Given the description of an element on the screen output the (x, y) to click on. 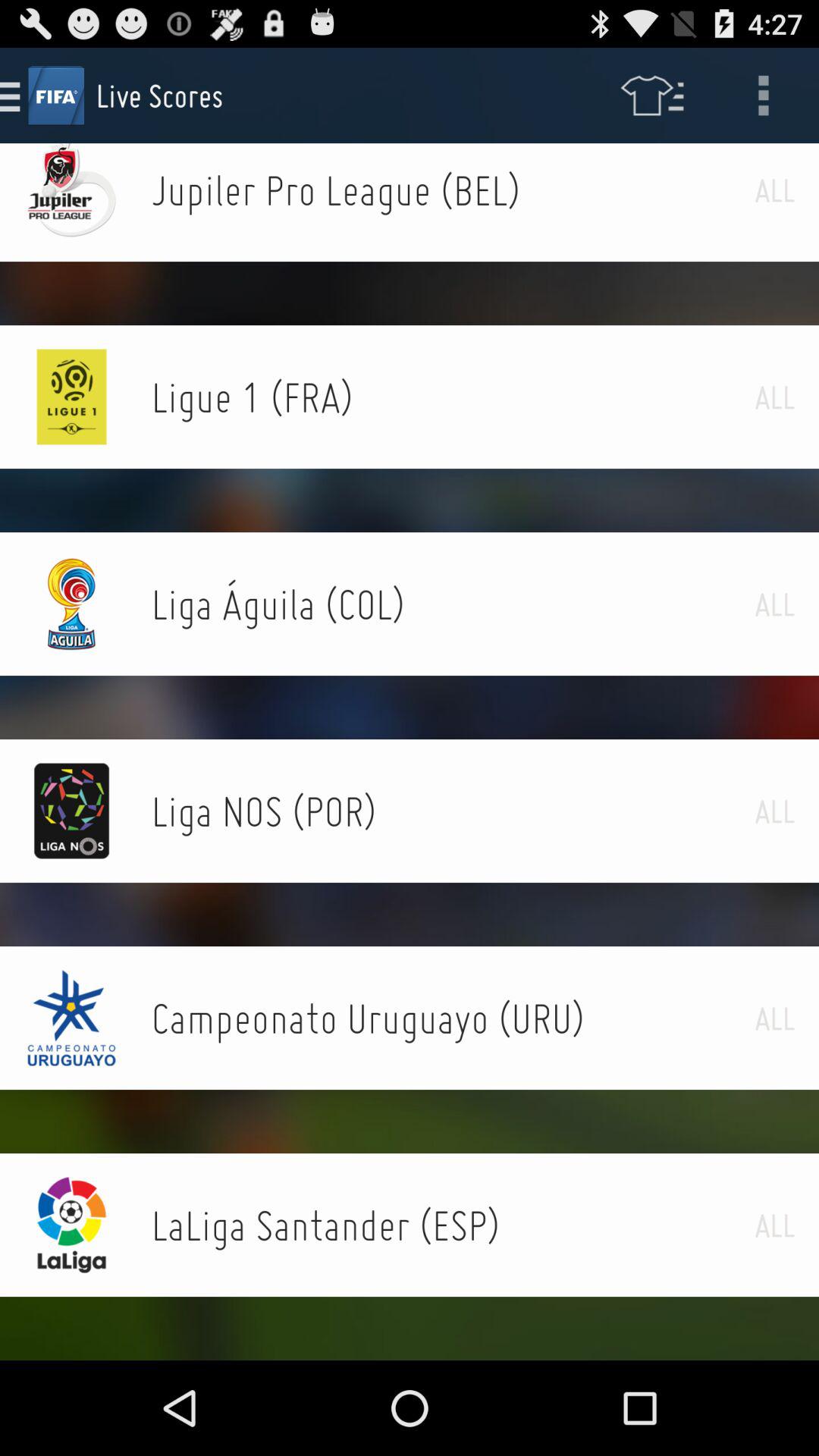
turn on the jupiler pro league item (452, 189)
